Given the description of an element on the screen output the (x, y) to click on. 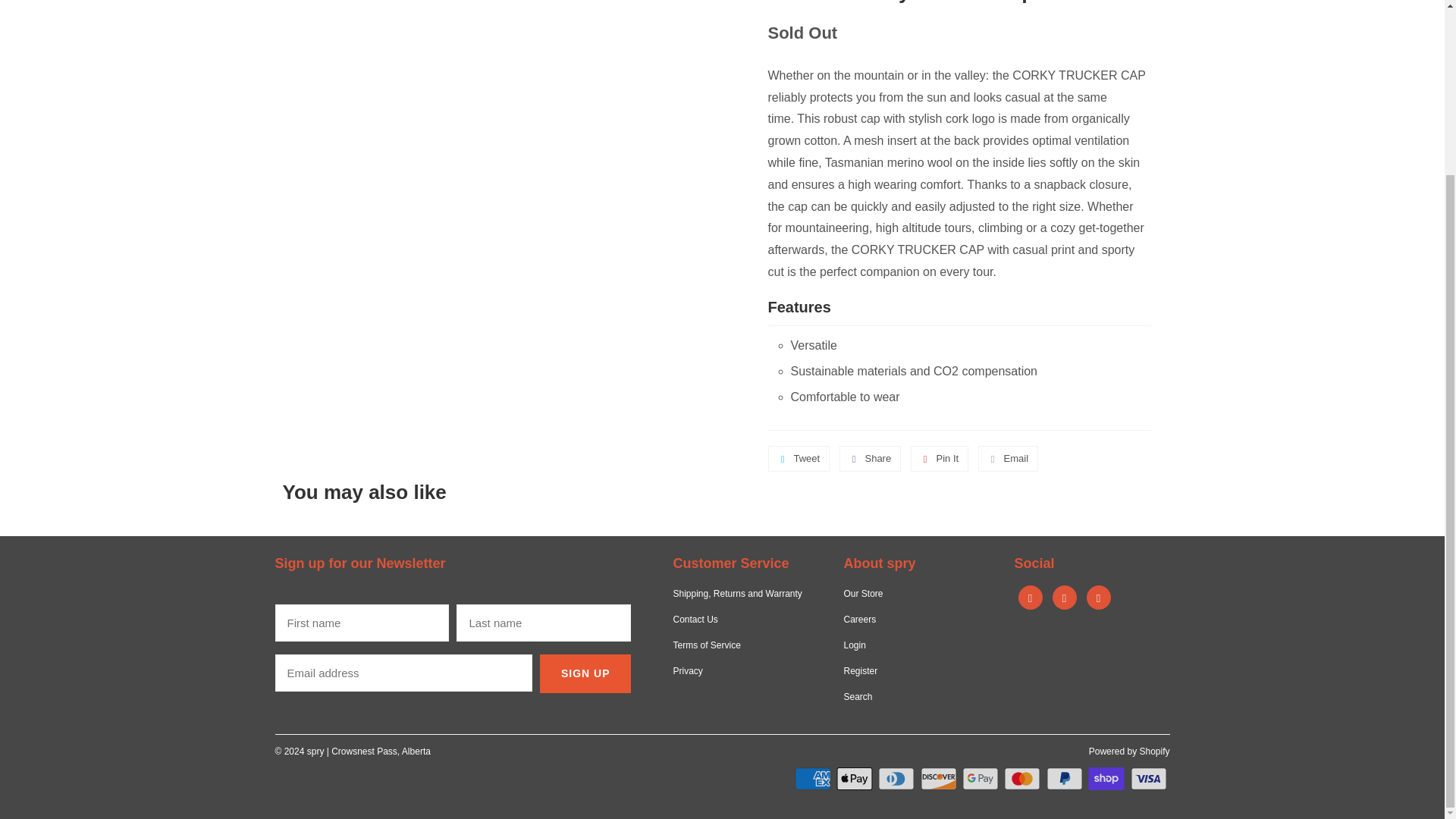
spry on Facebook (1029, 597)
Shop Pay (1106, 778)
Email spry (1097, 597)
Email this to a friend (1008, 458)
PayPal (1066, 778)
Share this on Facebook (870, 458)
Sign Up (585, 673)
Discover (939, 778)
spry on Instagram (1064, 597)
American Express (814, 778)
